Given the description of an element on the screen output the (x, y) to click on. 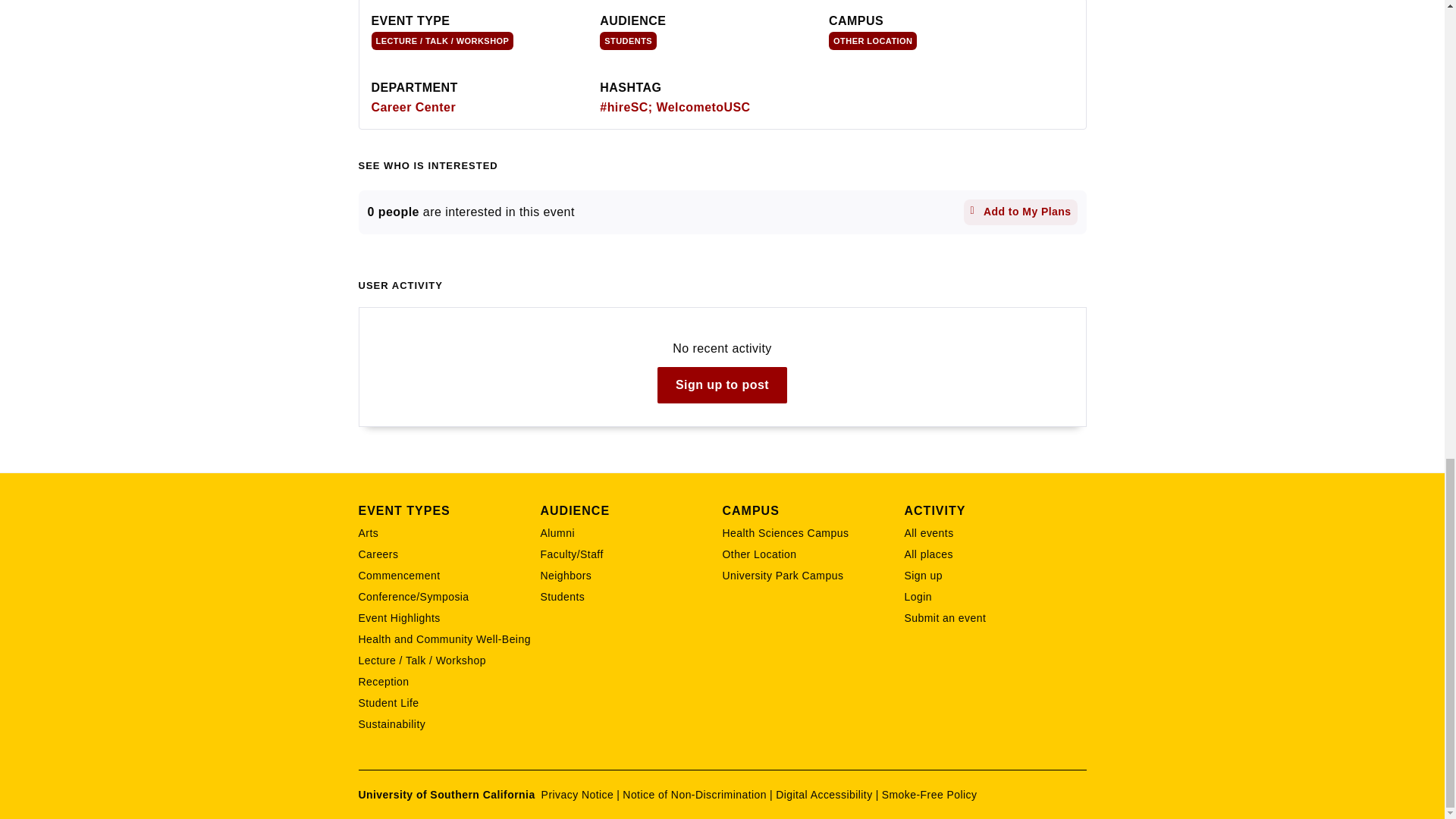
Arts (449, 532)
Sign up to post (722, 384)
STUDENTS (627, 40)
Career Center (414, 106)
OTHER LOCATION (872, 40)
Add to My Plans (1020, 212)
